Given the description of an element on the screen output the (x, y) to click on. 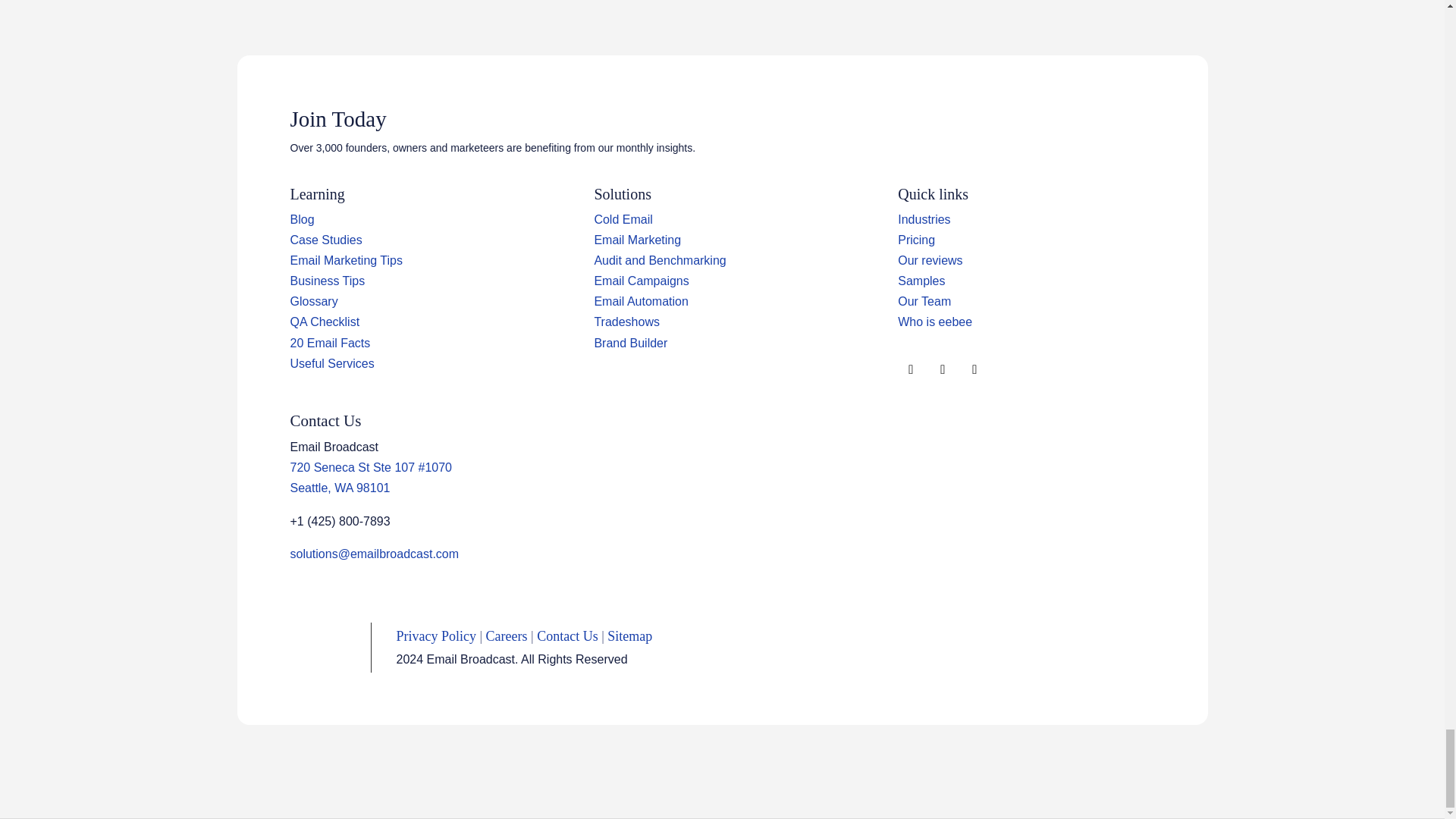
Follow on LinkedIn (942, 370)
Email Broadcast Office (370, 467)
Follow on Facebook (910, 370)
Email Broadcast Office (339, 487)
Follow on Youtube (973, 370)
